Given the description of an element on the screen output the (x, y) to click on. 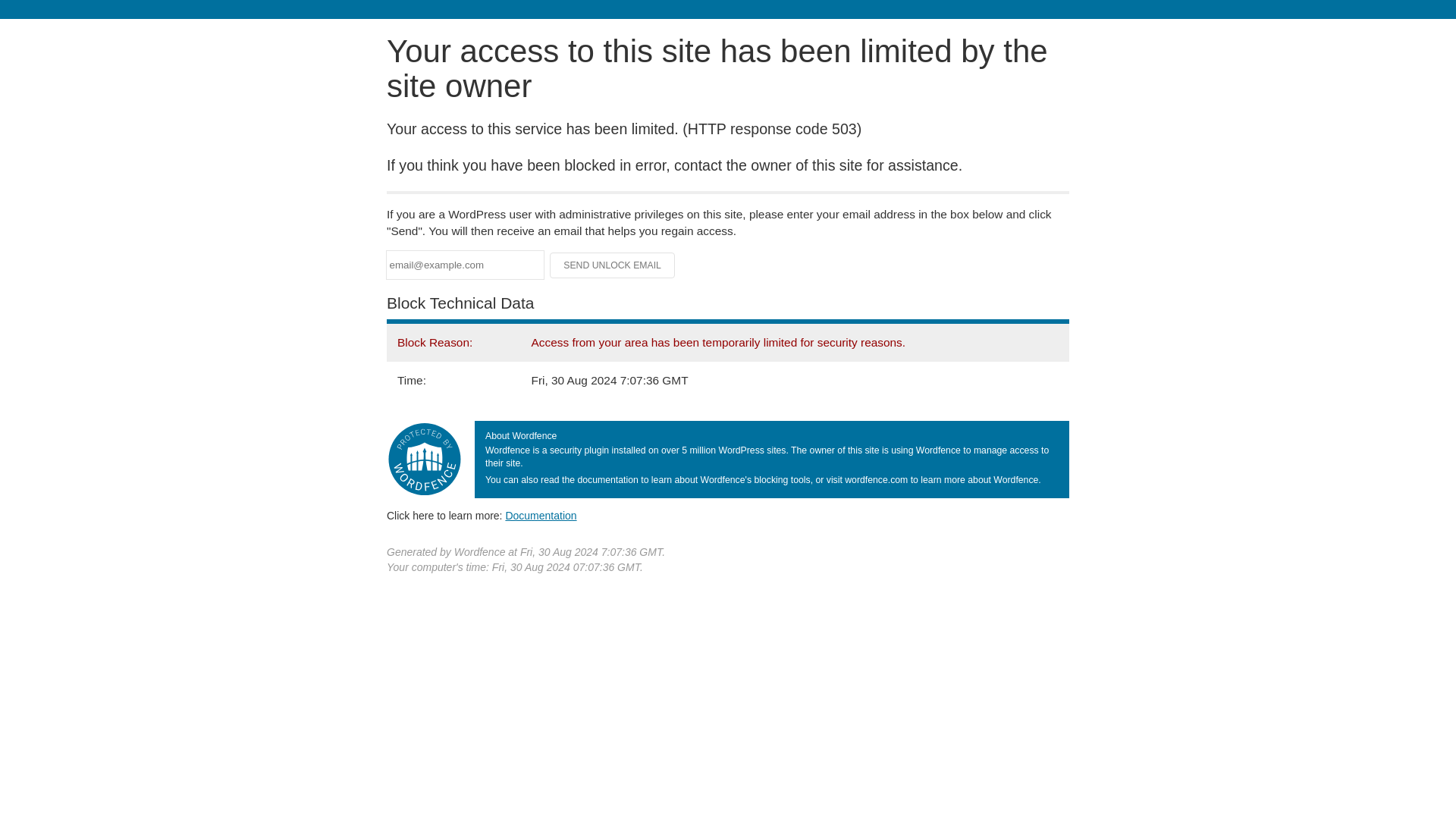
Send Unlock Email (612, 265)
Documentation (540, 515)
Send Unlock Email (612, 265)
